Given the description of an element on the screen output the (x, y) to click on. 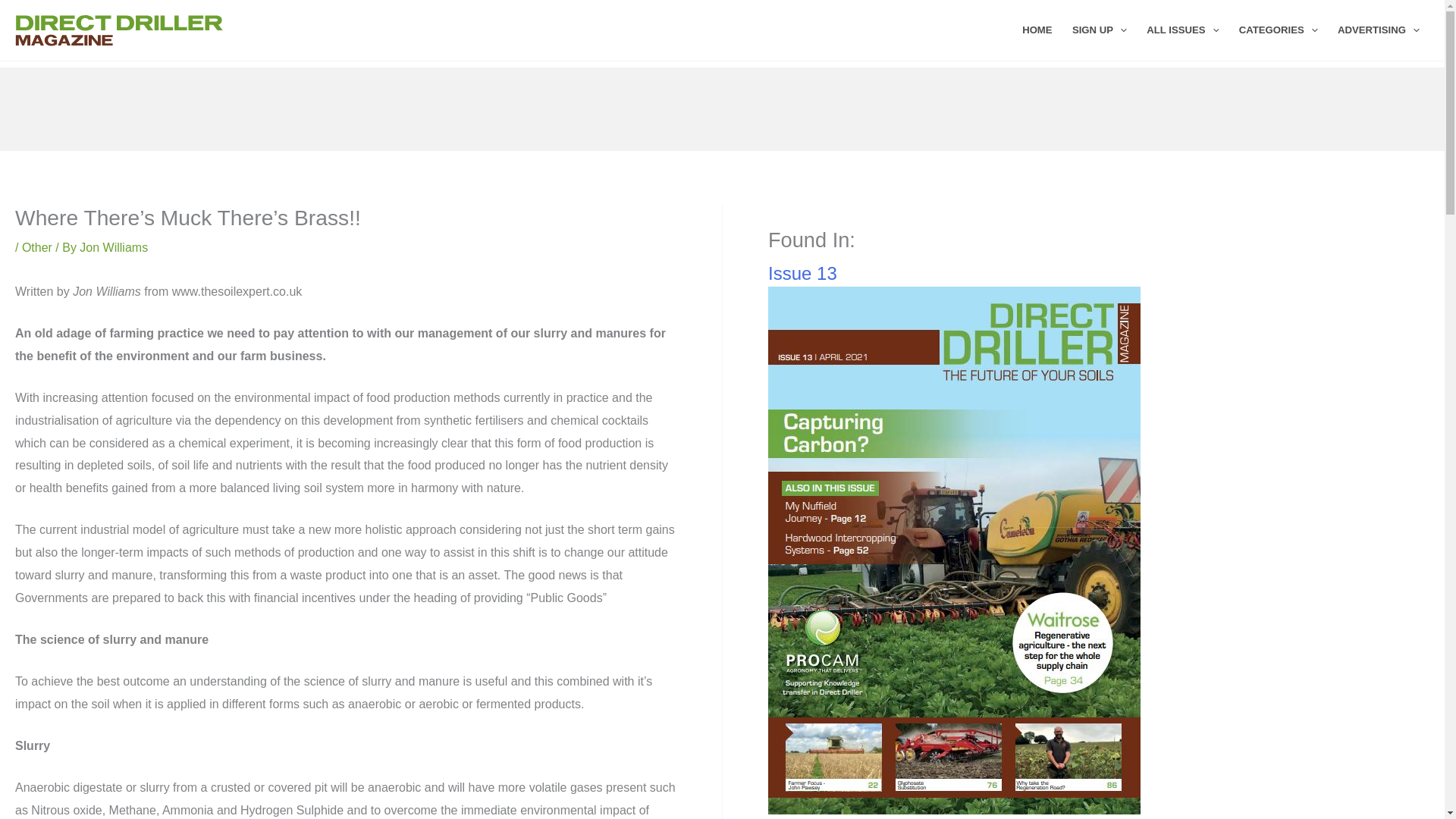
View all posts by Jon Williams (114, 246)
CATEGORIES (1277, 30)
ALL ISSUES (1182, 30)
ADVERTISING (1378, 30)
SIGN UP (1099, 30)
